Given the description of an element on the screen output the (x, y) to click on. 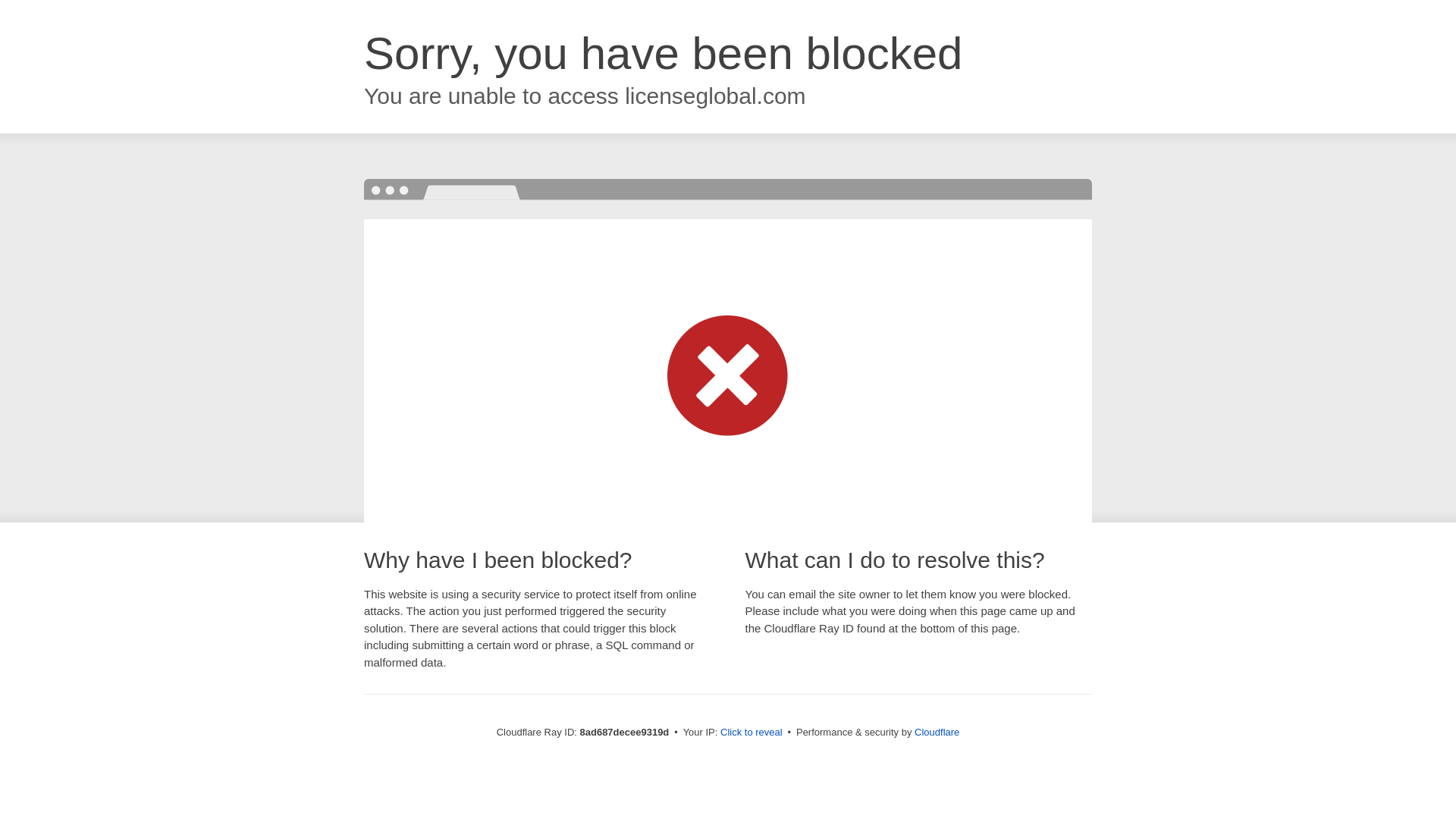
Cloudflare (936, 731)
Click to reveal (751, 732)
